Given the description of an element on the screen output the (x, y) to click on. 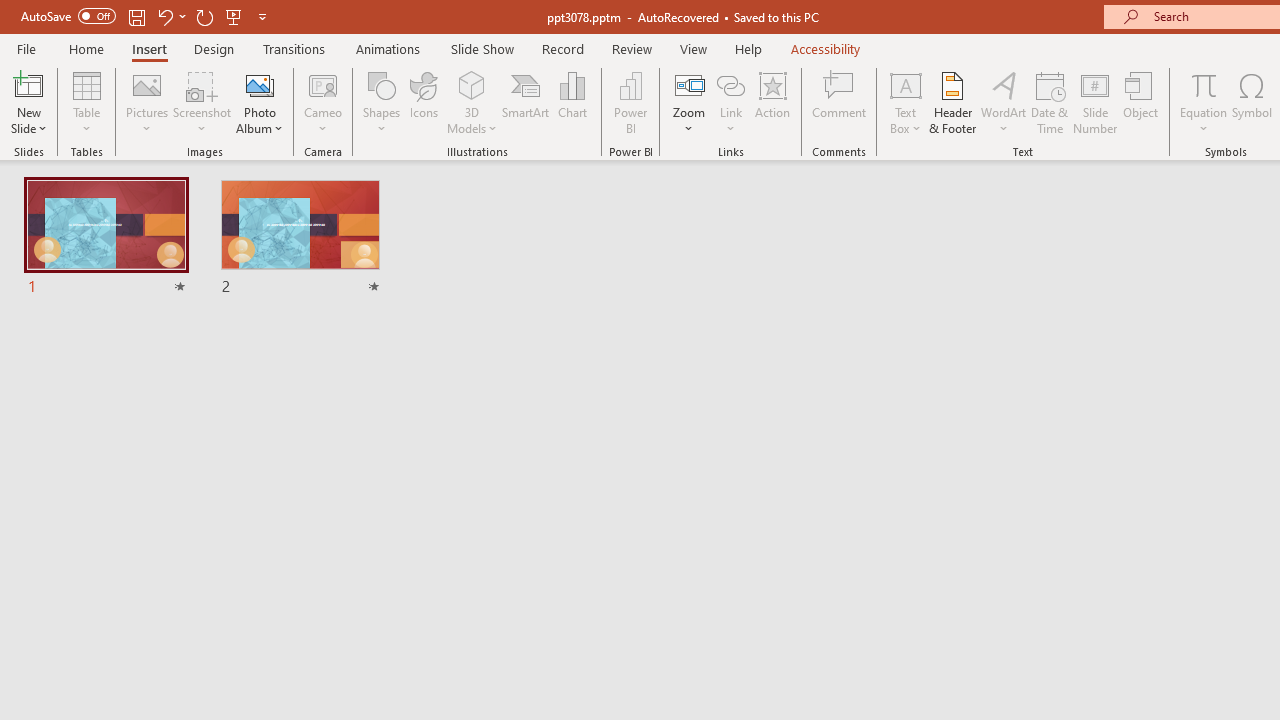
Link (731, 102)
3D Models (472, 102)
WordArt (1004, 102)
Action (772, 102)
Cameo (323, 84)
Table (86, 102)
Text Box (905, 102)
SmartArt... (525, 102)
